Given the description of an element on the screen output the (x, y) to click on. 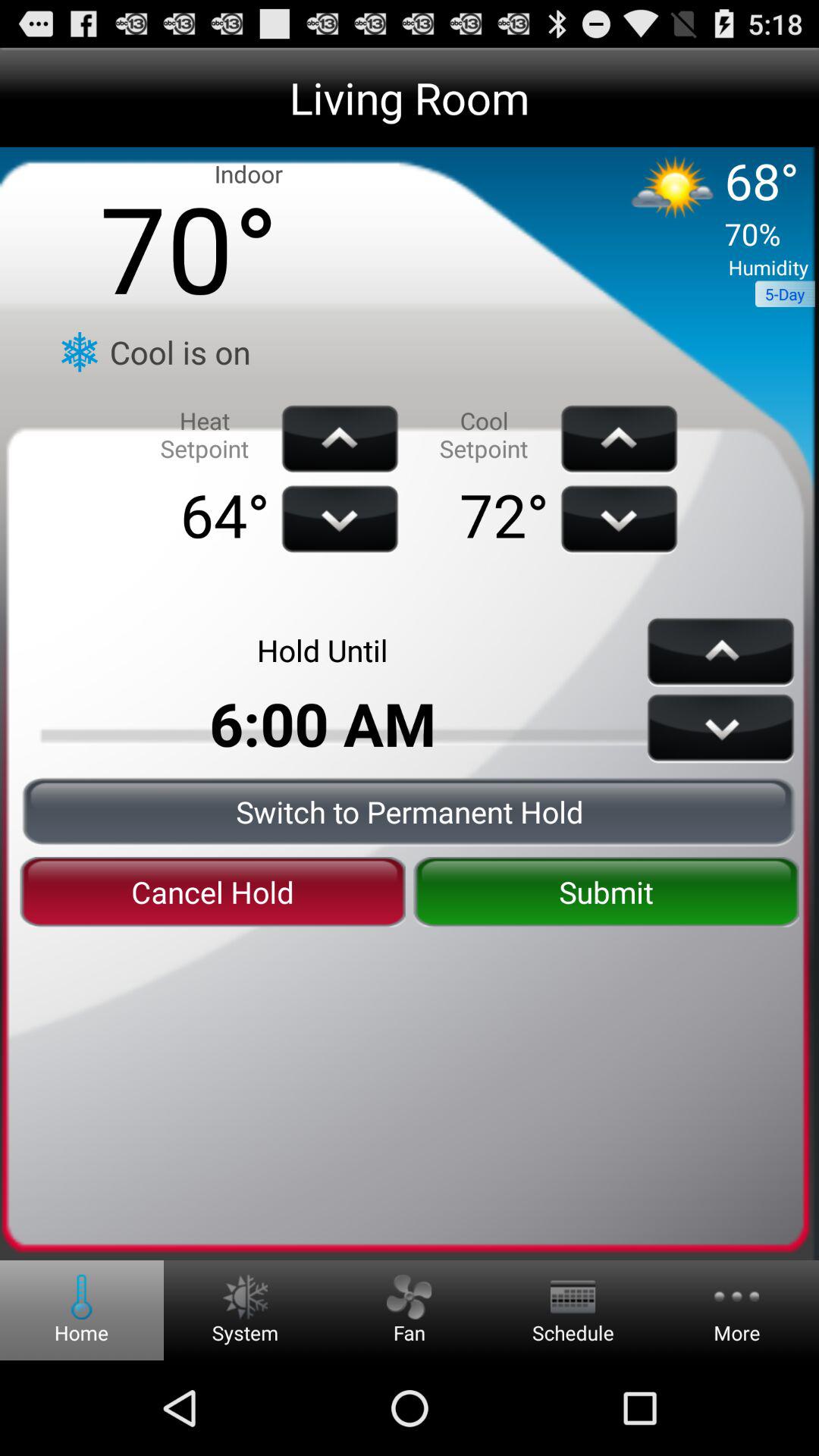
turn on the icon below switch to permanent (606, 892)
